Given the description of an element on the screen output the (x, y) to click on. 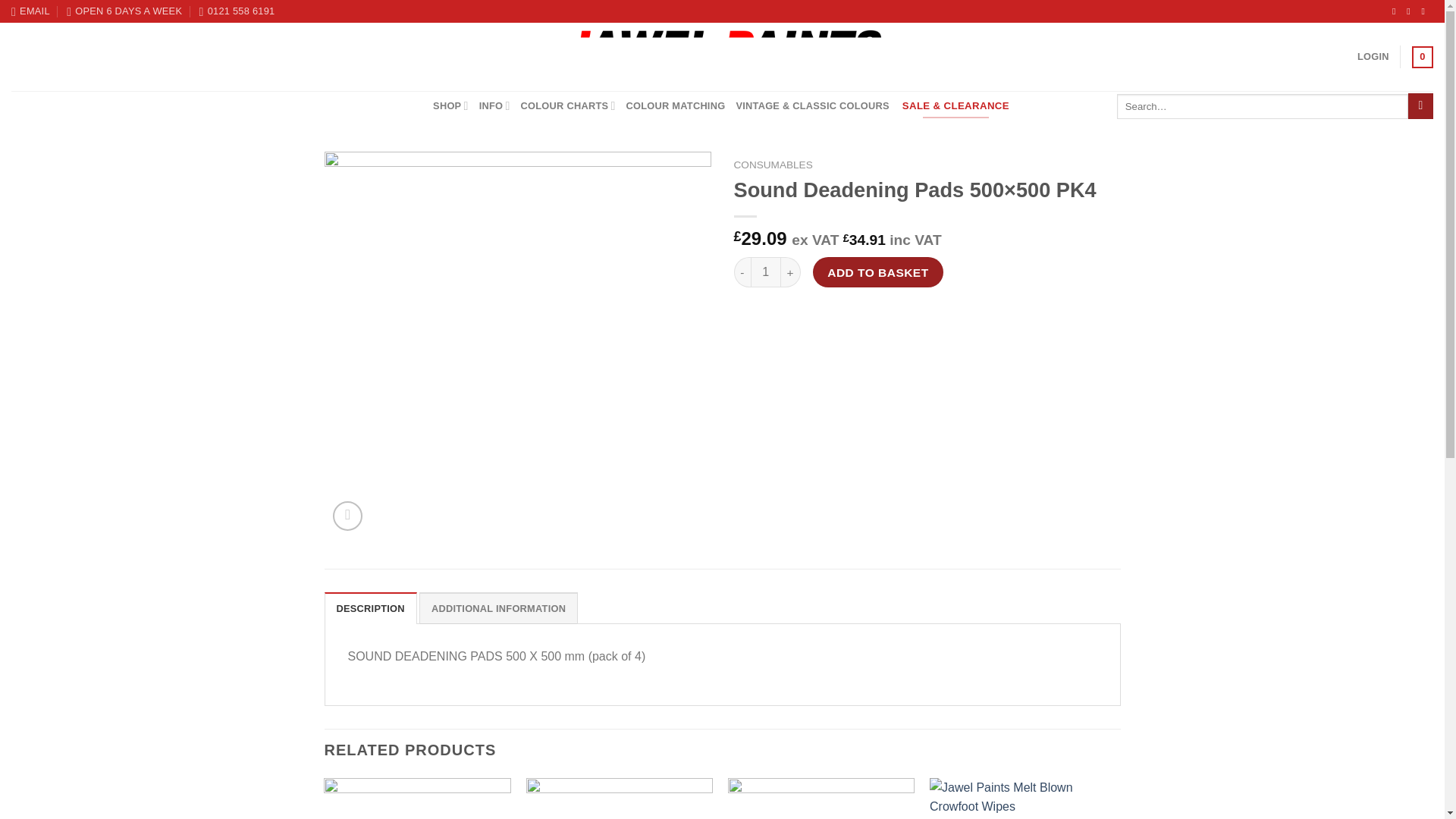
Login (1372, 56)
LOGIN (1372, 56)
Zoom (347, 515)
OPEN 6 DAYS A WEEK (124, 11)
Jawel Paints - Where The Best Costs Less (722, 56)
1 (765, 272)
EMAIL (30, 11)
SHOP (450, 105)
0121 558 6191 (237, 11)
0121 558 6191 (237, 11)
